Given the description of an element on the screen output the (x, y) to click on. 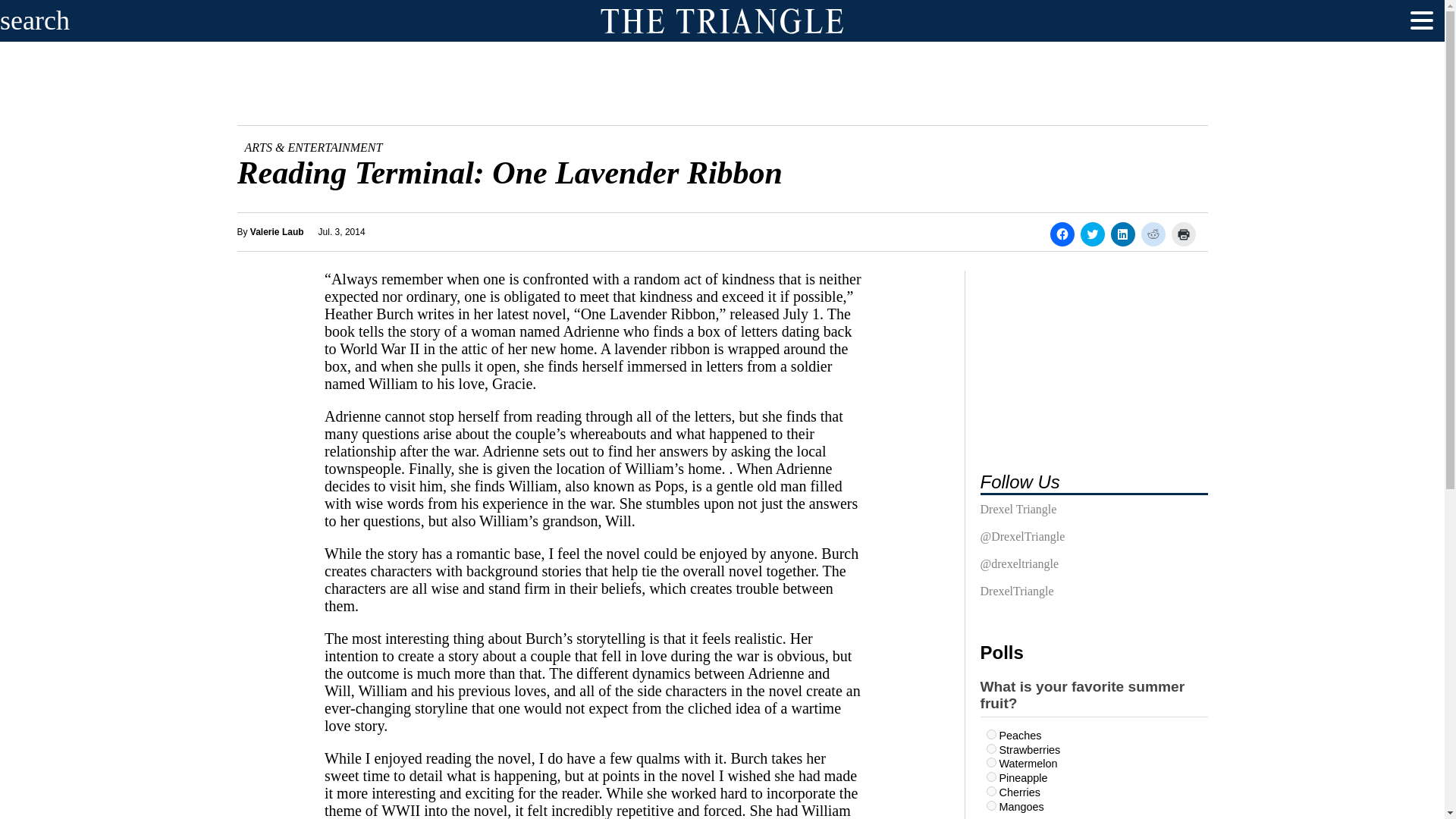
571 (990, 734)
Click to share on Twitter (1091, 233)
572 (990, 762)
Click to print (1182, 233)
576 (990, 777)
DrexelTriangle (1015, 594)
Click to share on LinkedIn (1121, 233)
Posts by Valerie Laub (277, 231)
574 (990, 748)
573 (990, 791)
Valerie Laub (277, 231)
Drexel Triangle (1018, 512)
Click to share on Reddit (1152, 233)
575 (990, 805)
Click to share on Facebook (1061, 233)
